Given the description of an element on the screen output the (x, y) to click on. 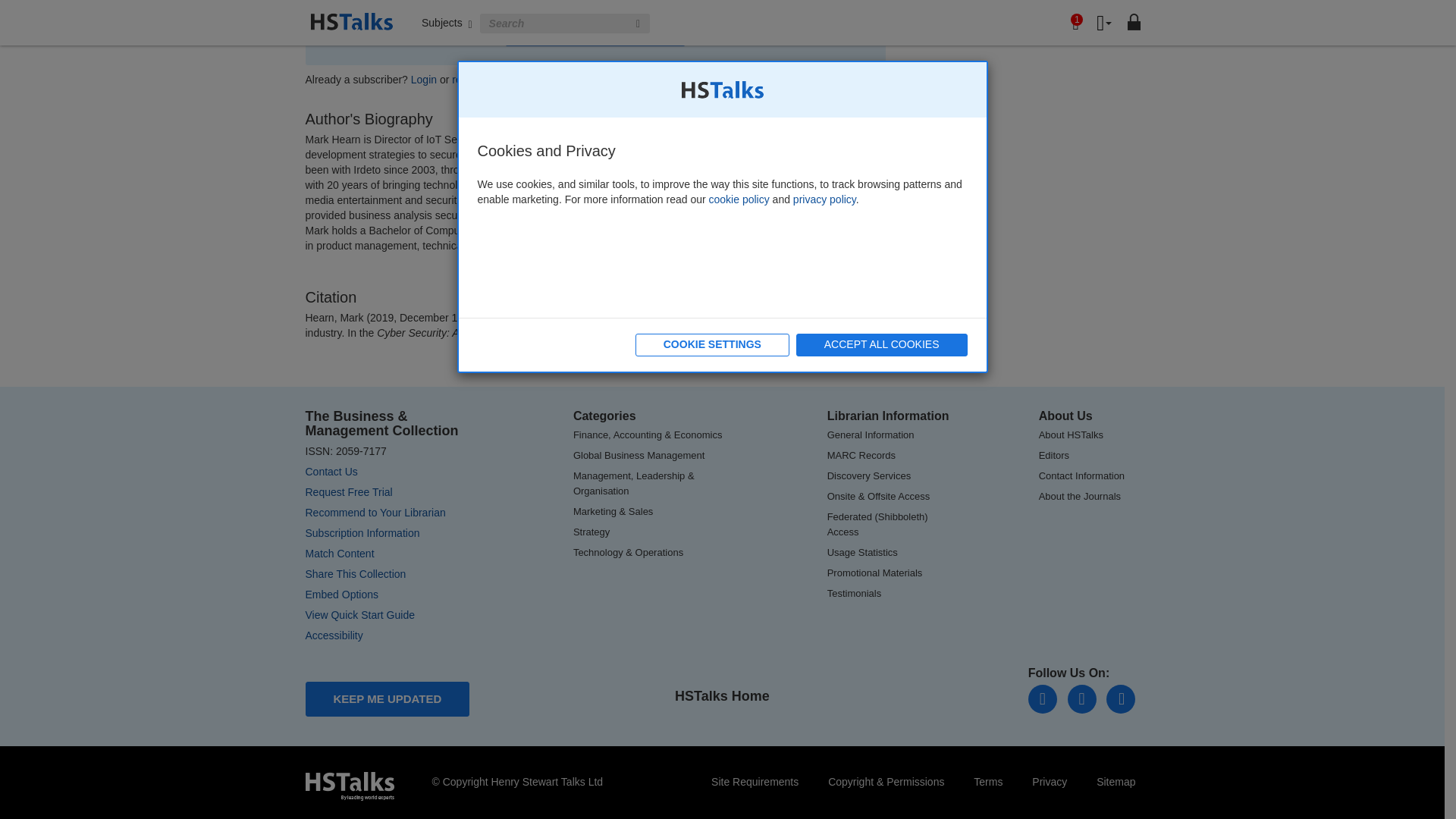
VIEW ACCESS OPTIONS (594, 34)
review other options (499, 79)
Login (423, 79)
